Given the description of an element on the screen output the (x, y) to click on. 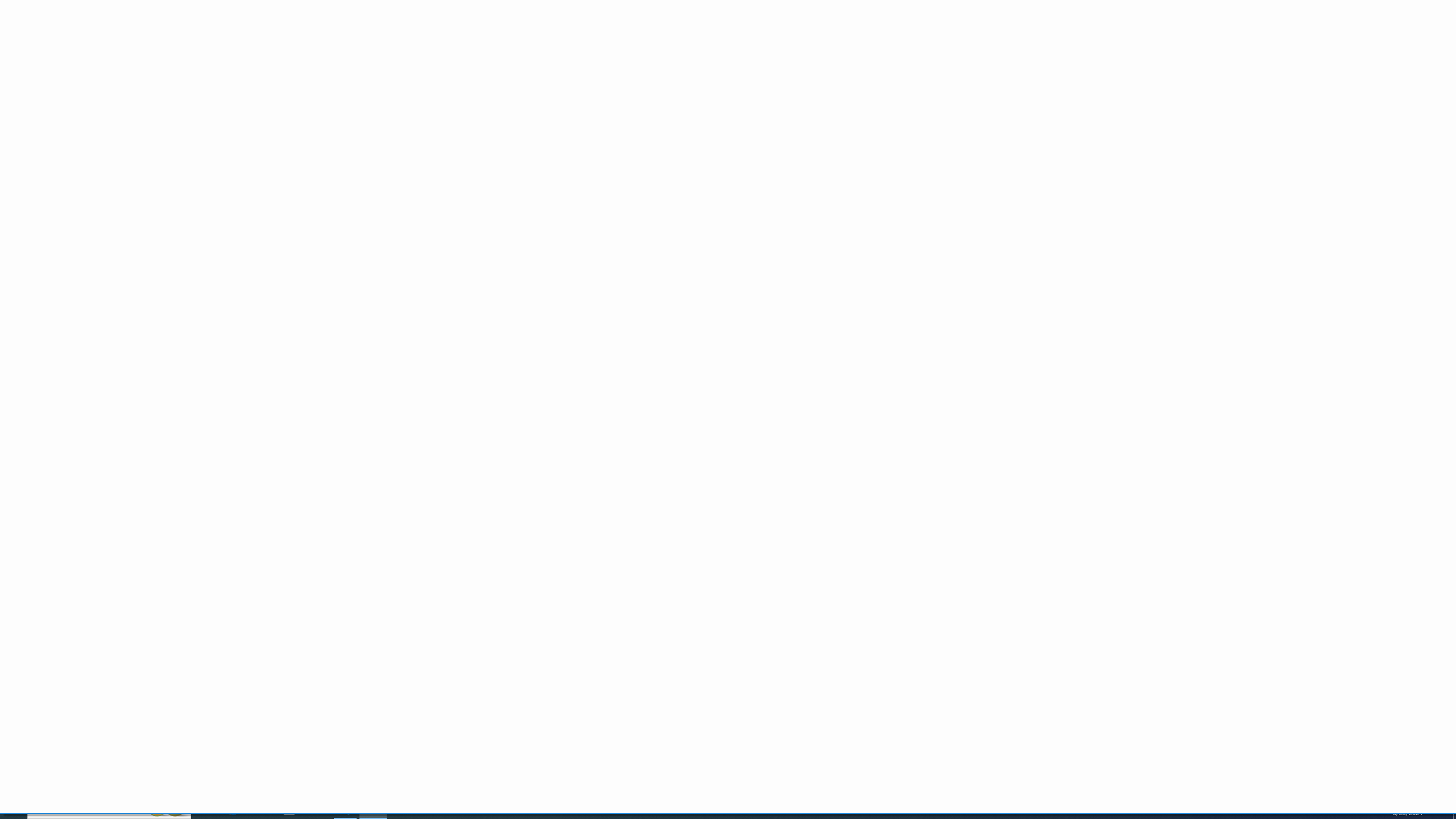
AutomationID: CellStylesGallery (736, 57)
Format Cell Number (494, 85)
Decrease Font Size (240, 49)
Clear (1003, 69)
Accounting Number Format (422, 67)
Format Painter (58, 72)
Good (731, 49)
Delete (938, 58)
